Given the description of an element on the screen output the (x, y) to click on. 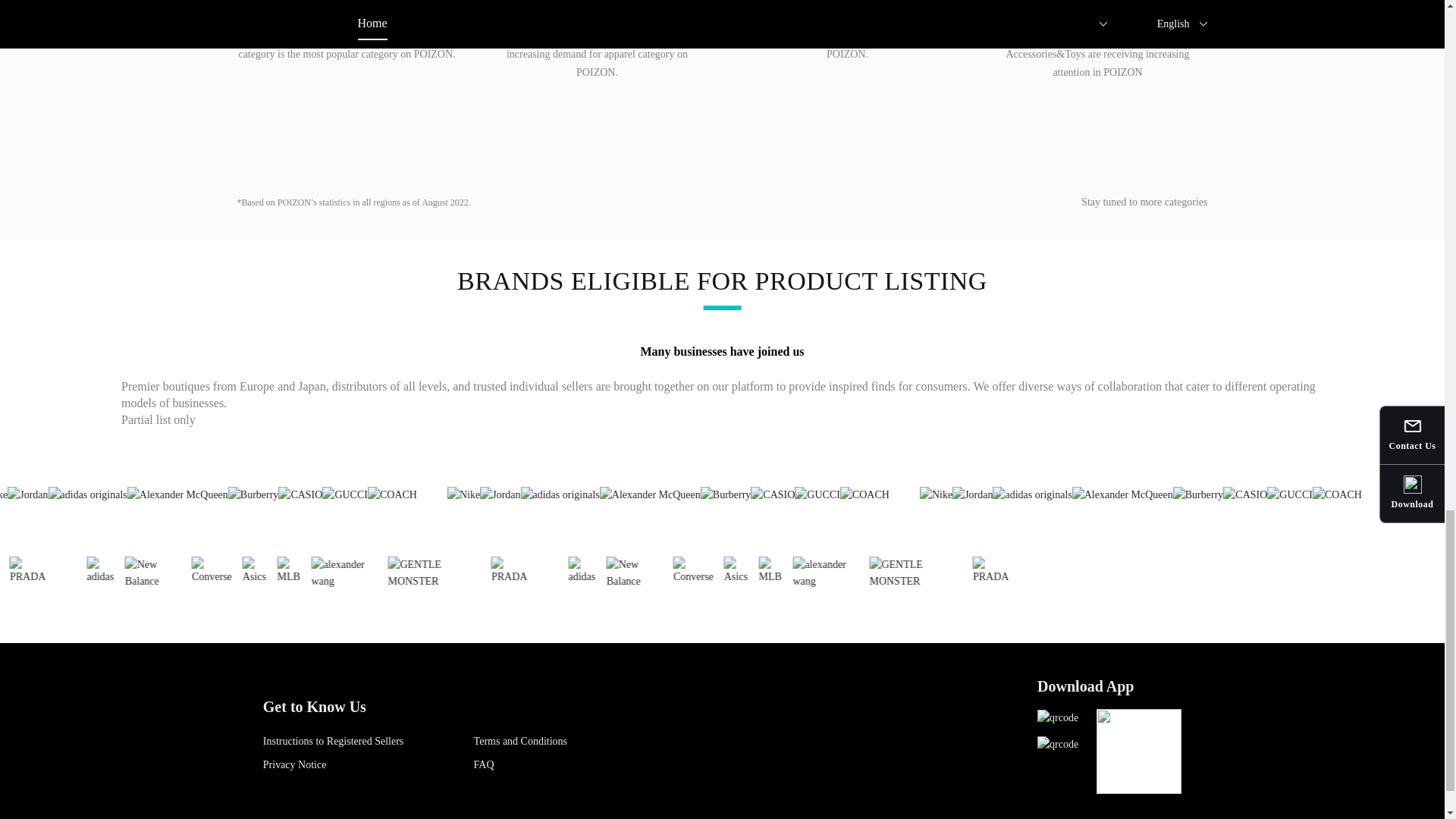
Terms and Conditions (520, 740)
Privacy Notice (294, 764)
Instructions to Registered Sellers (333, 740)
FAQ (484, 764)
